Given the description of an element on the screen output the (x, y) to click on. 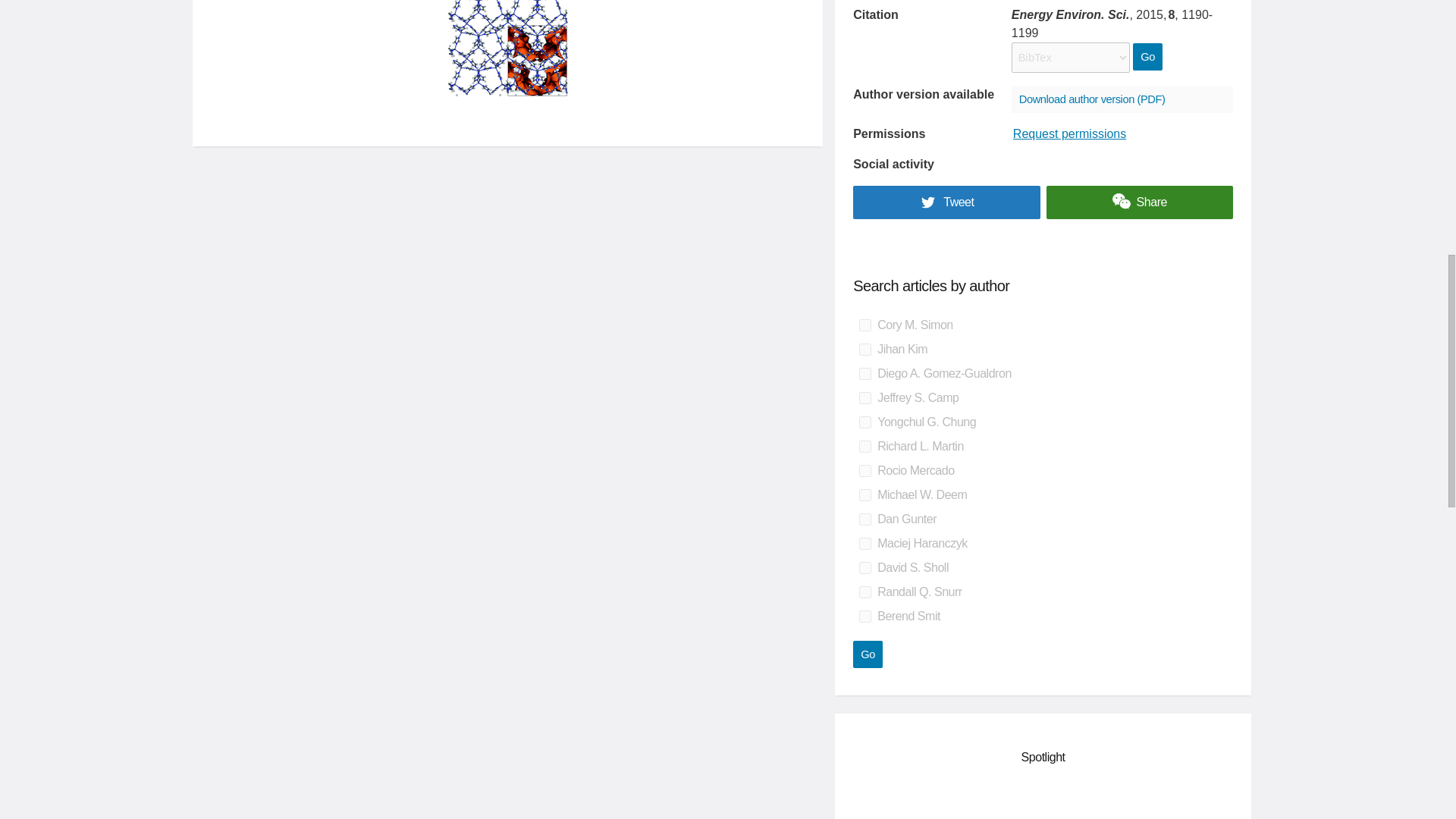
on (864, 325)
Go (1146, 56)
on (864, 519)
on (864, 422)
Go (867, 654)
on (864, 446)
Go (867, 654)
on (864, 592)
on (864, 567)
3rd party ad content (1043, 800)
on (864, 349)
on (864, 470)
on (864, 543)
on (864, 398)
on (864, 373)
